Given the description of an element on the screen output the (x, y) to click on. 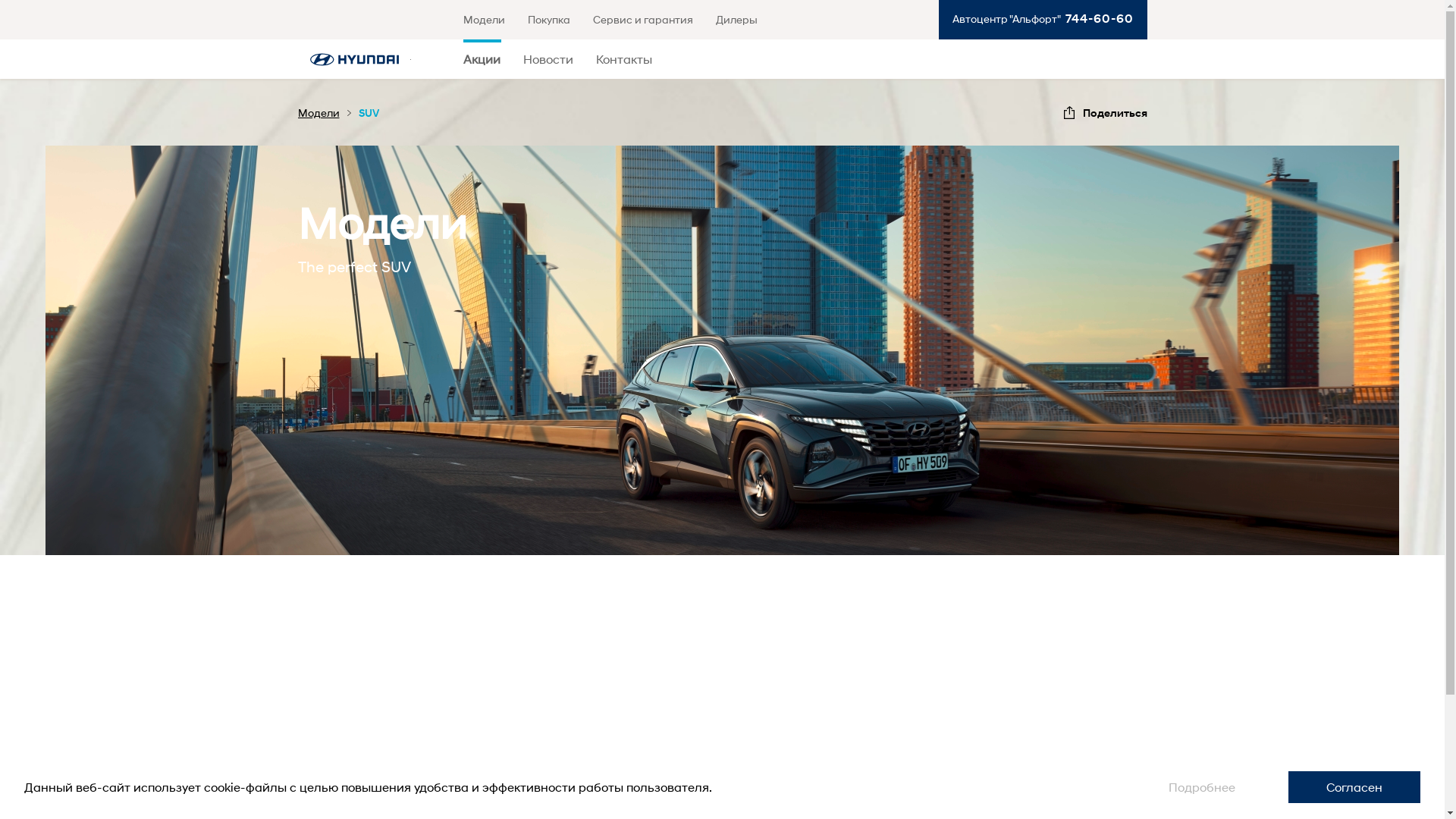
SUV Element type: text (367, 112)
744-60-60 Element type: text (1096, 18)
